Given the description of an element on the screen output the (x, y) to click on. 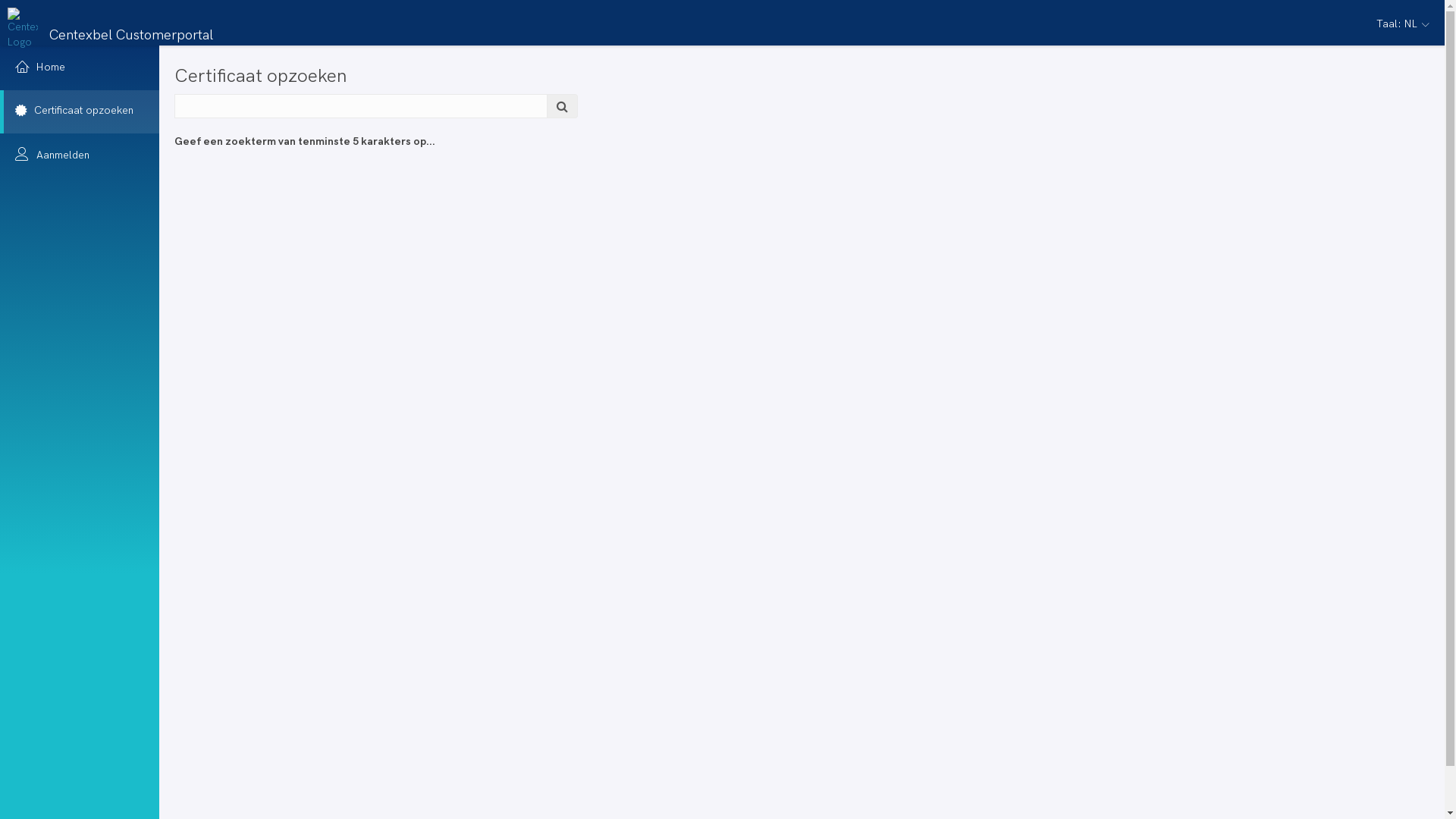
Aanmelden Element type: text (79, 155)
Certificaat opzoeken Element type: text (79, 111)
Home Element type: text (79, 67)
Taal: NL Element type: text (1402, 22)
